Given the description of an element on the screen output the (x, y) to click on. 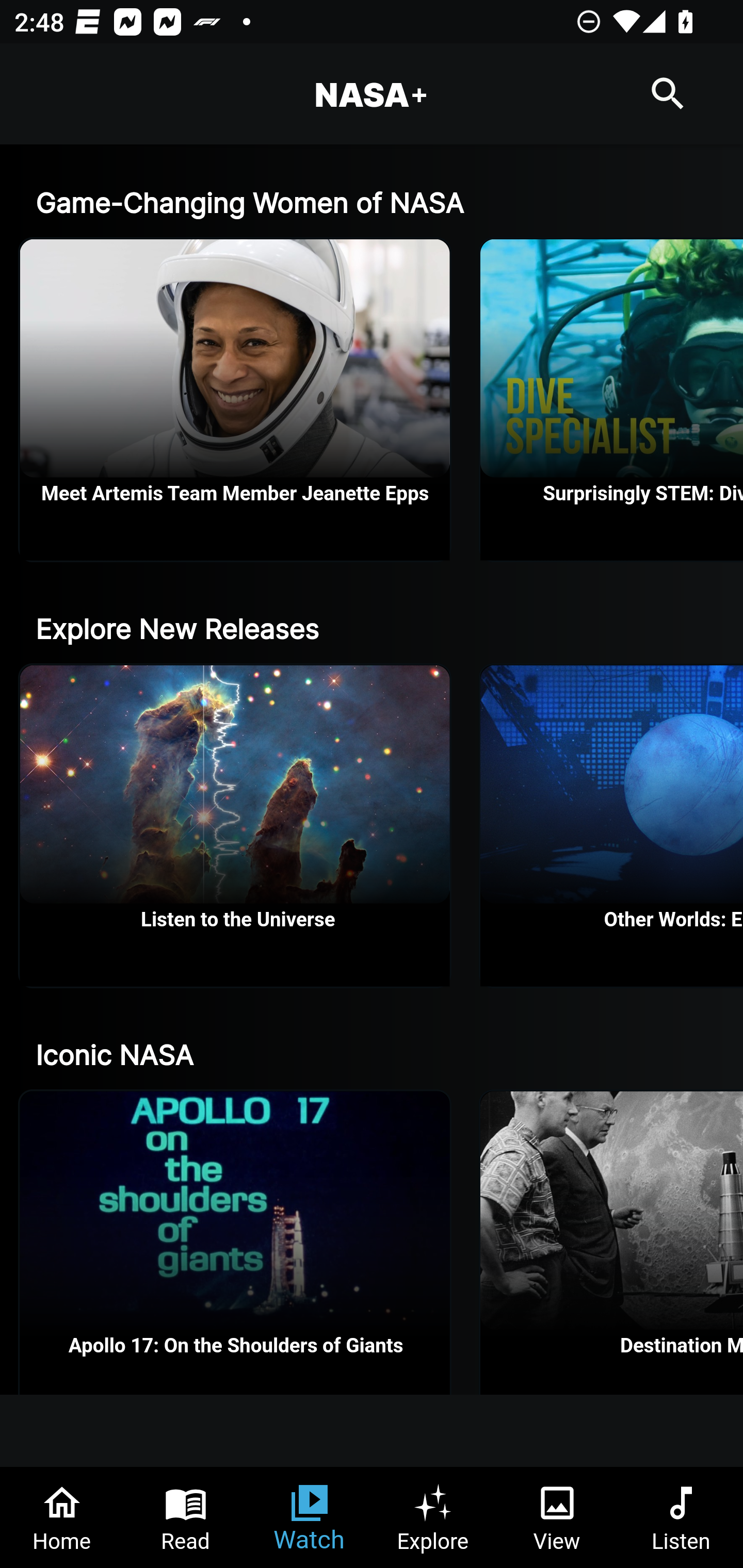
Meet Artemis Team Member Jeanette Epps (235, 400)
Surprisingly STEM: Dive Specialist (611, 400)
Listen to the Universe (235, 825)
Other Worlds: Europa (611, 825)
Apollo 17: On the Shoulders of Giants (235, 1242)
Destination Moon (611, 1242)
Home
Tab 1 of 6 (62, 1517)
Read
Tab 2 of 6 (185, 1517)
Watch
Tab 3 of 6 (309, 1517)
Explore
Tab 4 of 6 (433, 1517)
View
Tab 5 of 6 (556, 1517)
Listen
Tab 6 of 6 (680, 1517)
